Given the description of an element on the screen output the (x, y) to click on. 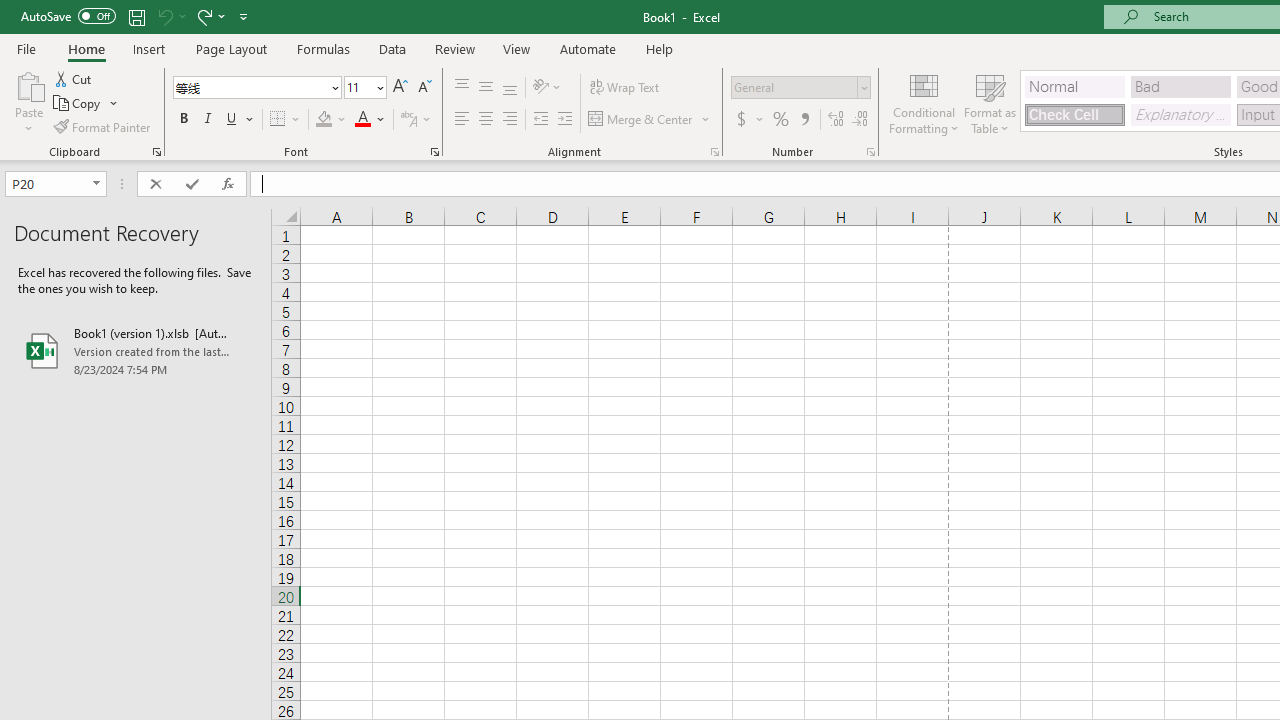
Office Clipboard... (156, 151)
Bottom Align (509, 87)
Format Cell Number (870, 151)
